Given the description of an element on the screen output the (x, y) to click on. 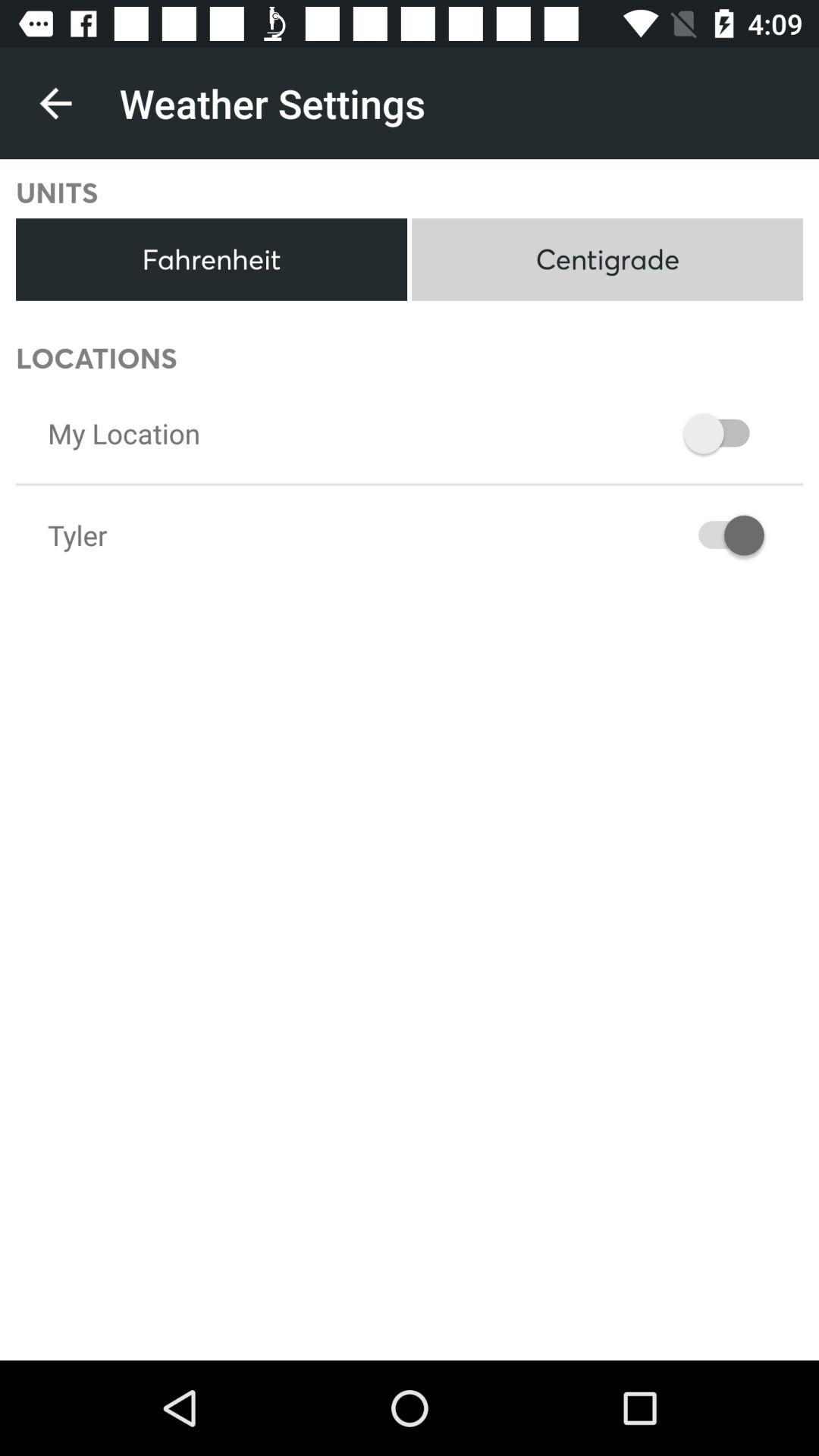
turn on item below weather settings item (607, 259)
